Given the description of an element on the screen output the (x, y) to click on. 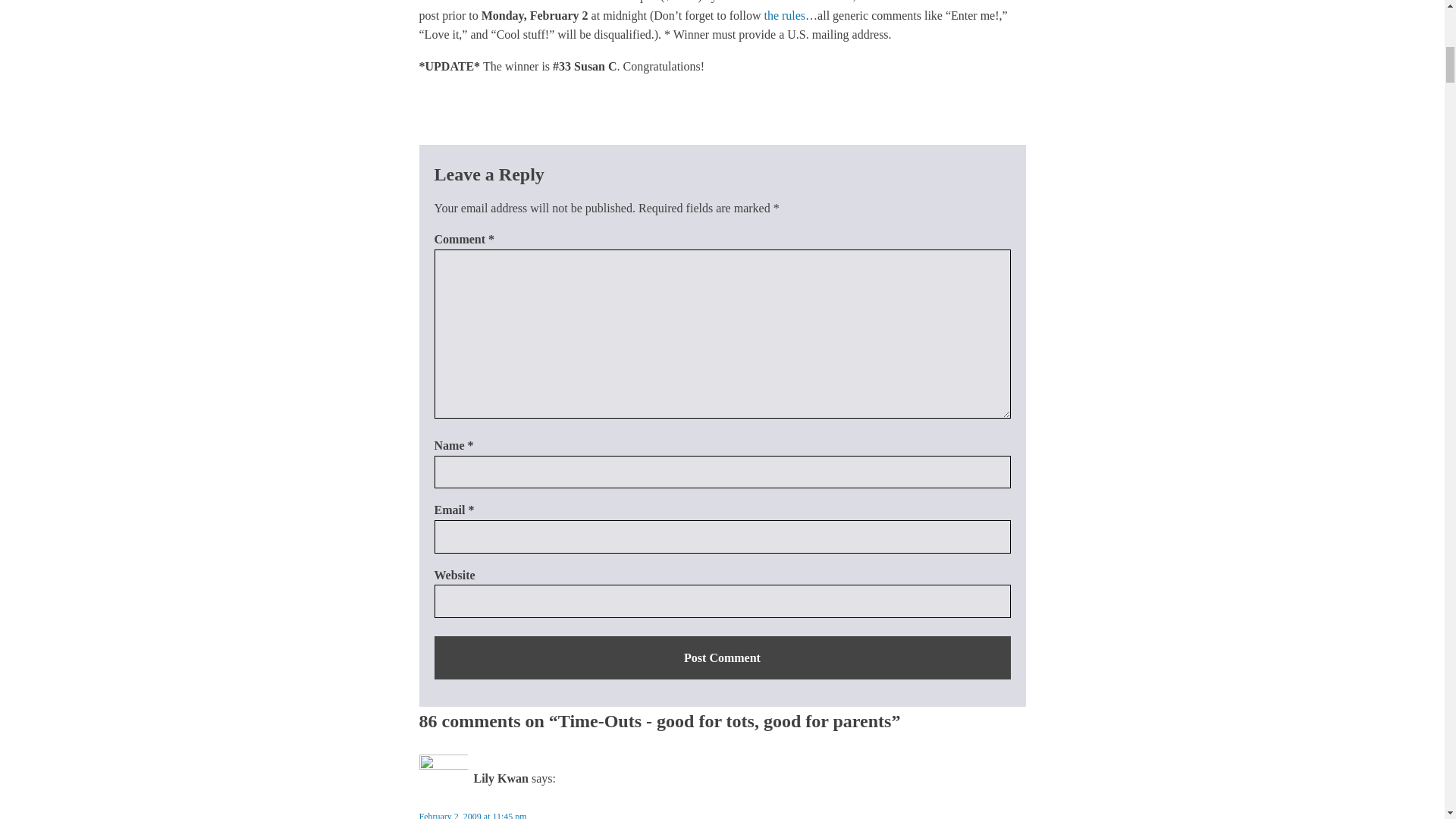
Post Comment (721, 658)
the rules (783, 15)
Post Comment (721, 658)
February 2, 2009 at 11:45 pm (472, 815)
